Given the description of an element on the screen output the (x, y) to click on. 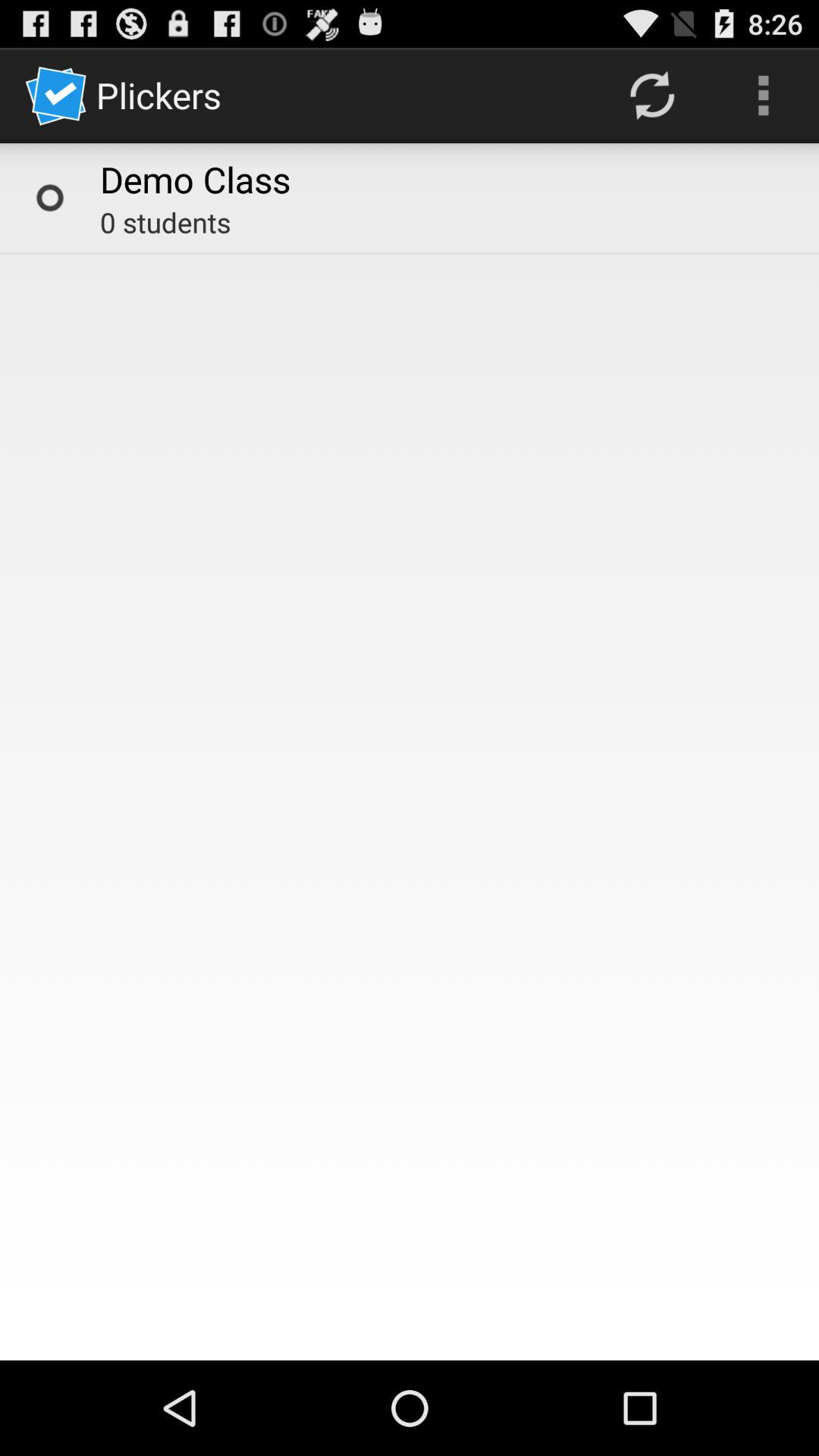
turn off app to the left of demo class icon (49, 197)
